Given the description of an element on the screen output the (x, y) to click on. 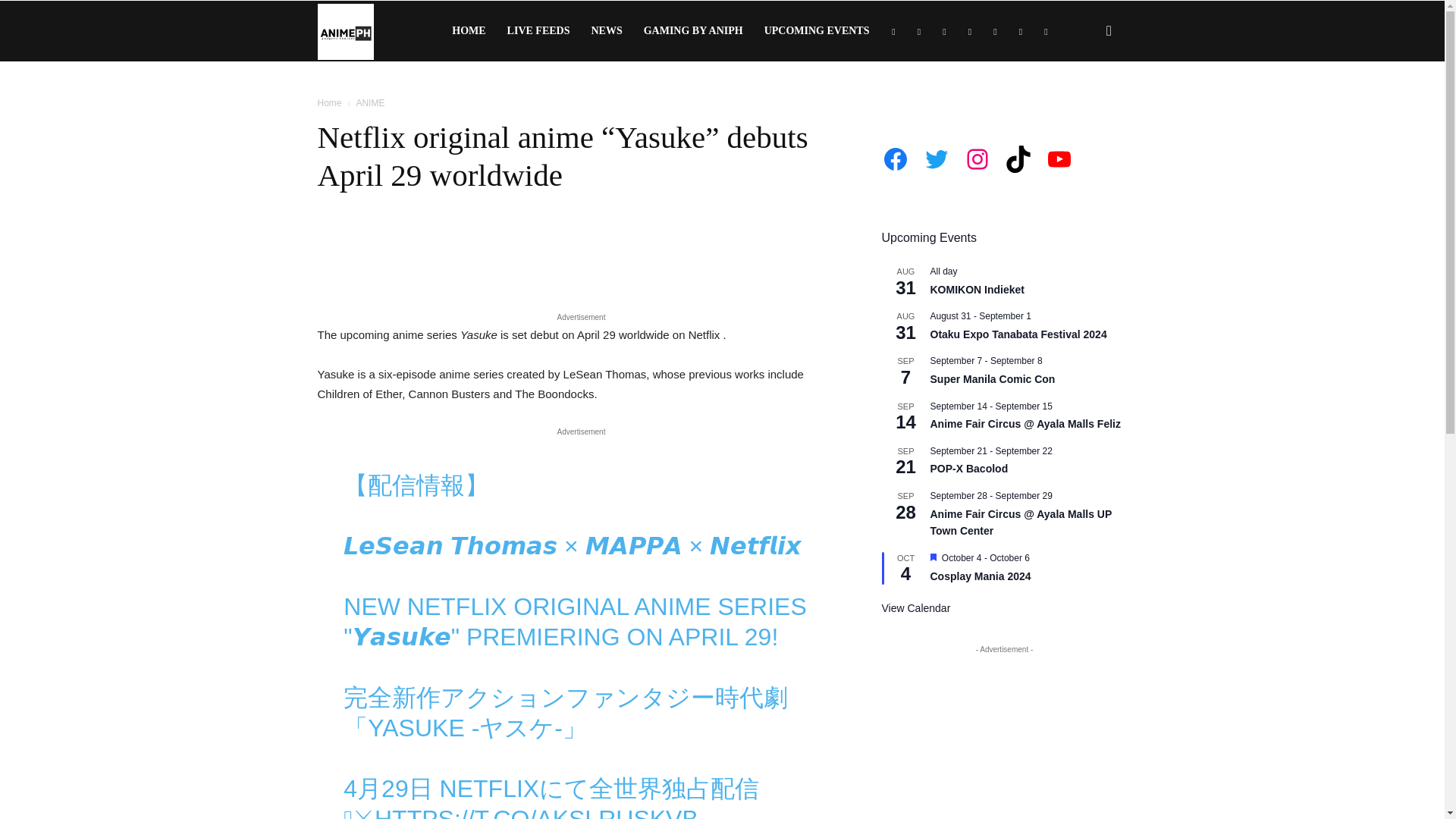
Search (1085, 103)
UPCOMING EVENTS (817, 30)
Home (328, 102)
HOME (468, 30)
ANIMEPH (344, 30)
GAMING BY ANIPH (693, 30)
LIVE FEEDS (538, 30)
